Given the description of an element on the screen output the (x, y) to click on. 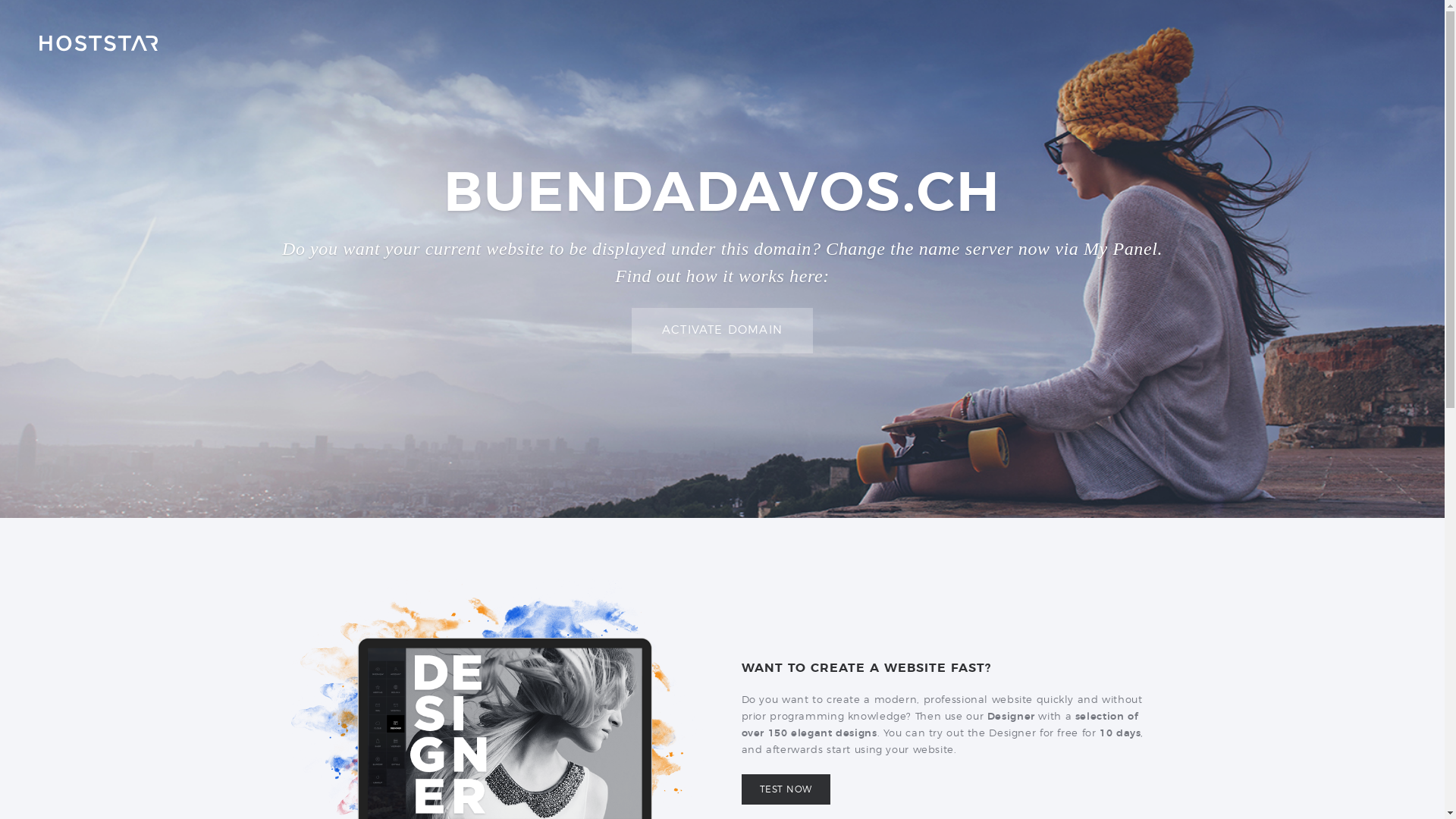
ACTIVATE DOMAIN Element type: text (721, 330)
TEST NOW Element type: text (785, 789)
ACTIVATE DOMAIN Element type: text (721, 330)
